Given the description of an element on the screen output the (x, y) to click on. 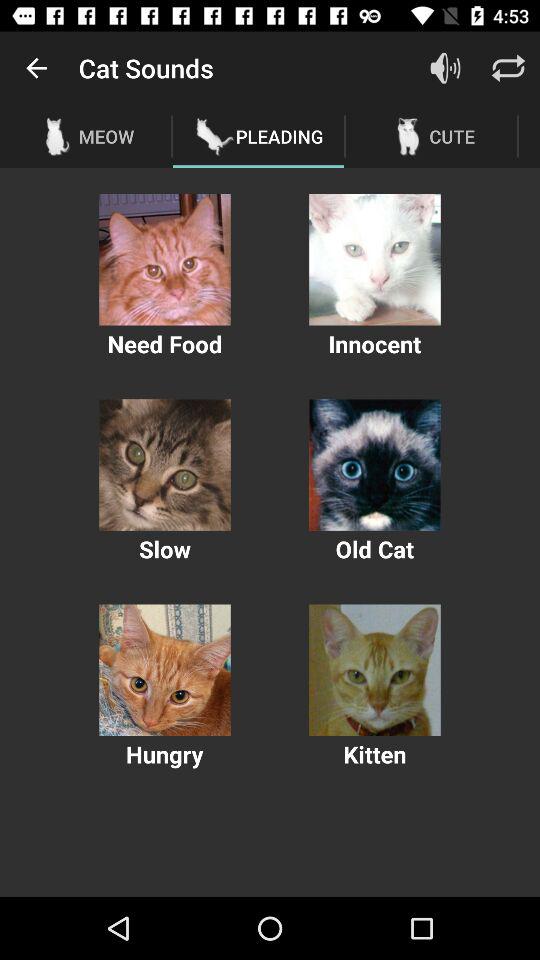
turn on the item next to cat sounds app (36, 68)
